Given the description of an element on the screen output the (x, y) to click on. 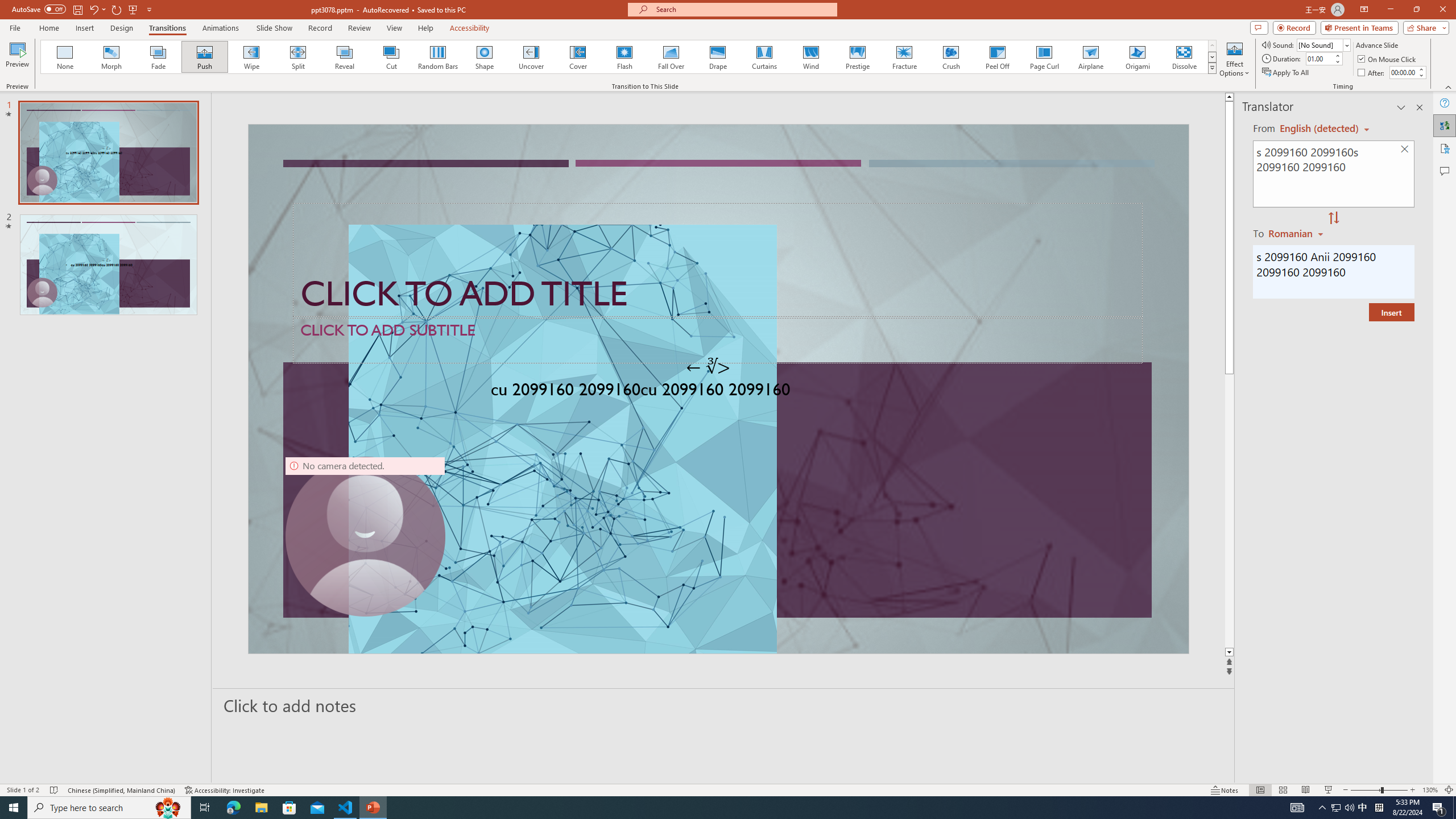
Flash (624, 56)
TextBox 7 (708, 367)
Random Bars (437, 56)
Push (205, 56)
Prestige (857, 56)
Sound (1324, 44)
